Given the description of an element on the screen output the (x, y) to click on. 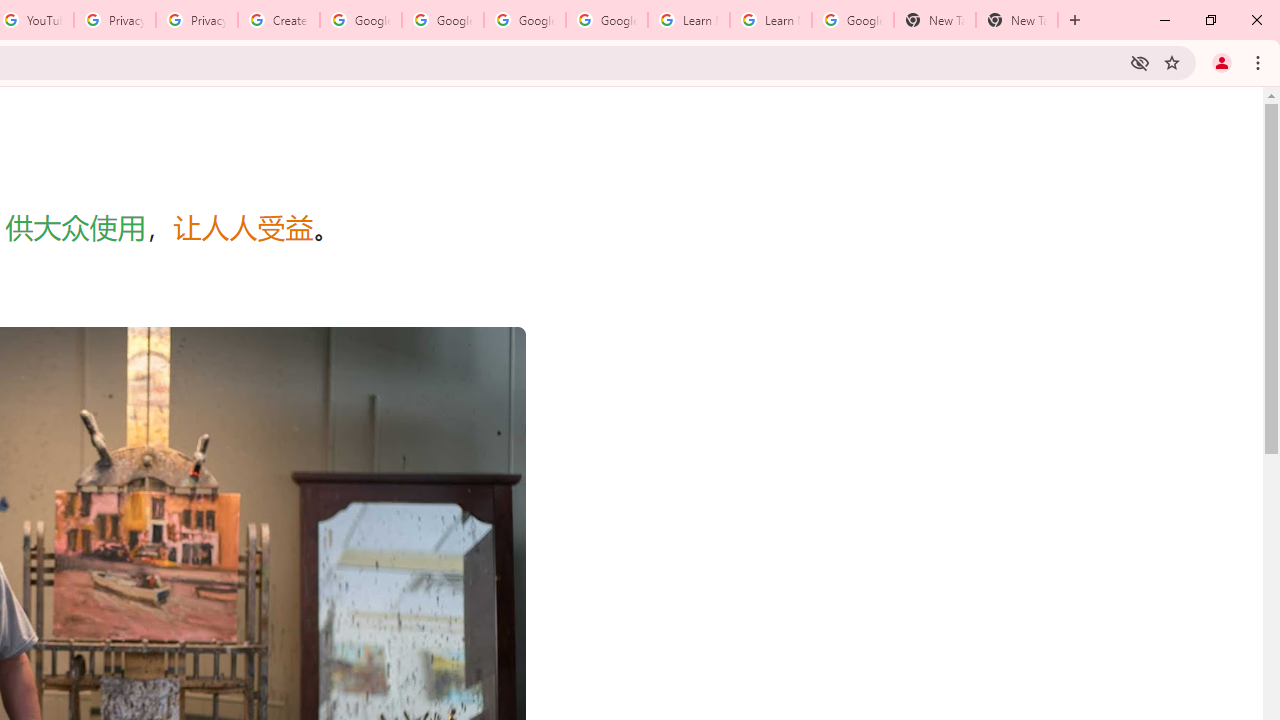
New Tab (934, 20)
Google Account Help (524, 20)
Google Account Help (442, 20)
Create your Google Account (278, 20)
Google Account (852, 20)
